Given the description of an element on the screen output the (x, y) to click on. 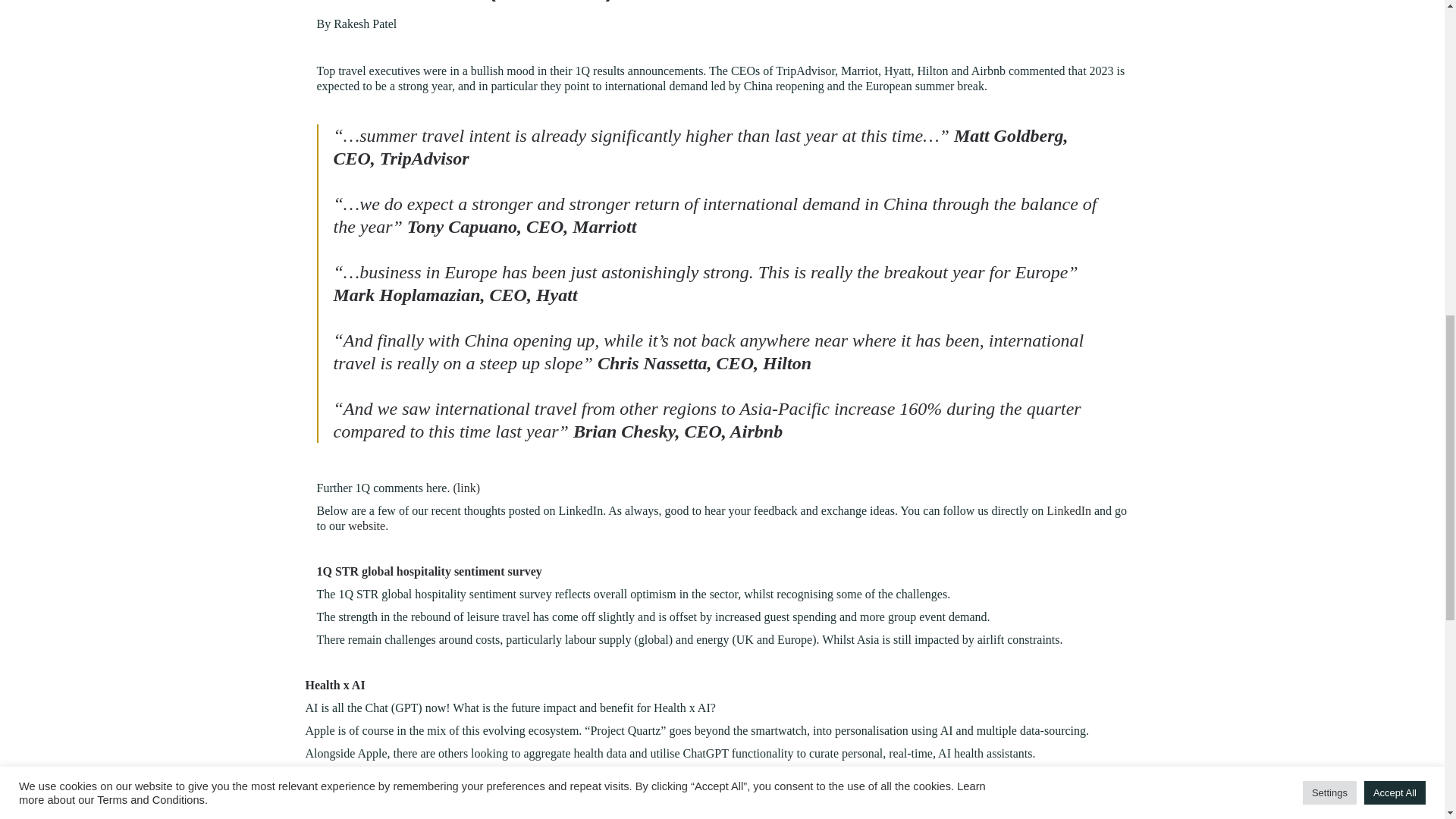
Outbound Rebound 2023: The Return of Chinese Travelers (457, 816)
website (366, 525)
1Q STR global hospitality sentiment survey (429, 571)
LinkedIn (1068, 510)
Health x AI (334, 684)
